Given the description of an element on the screen output the (x, y) to click on. 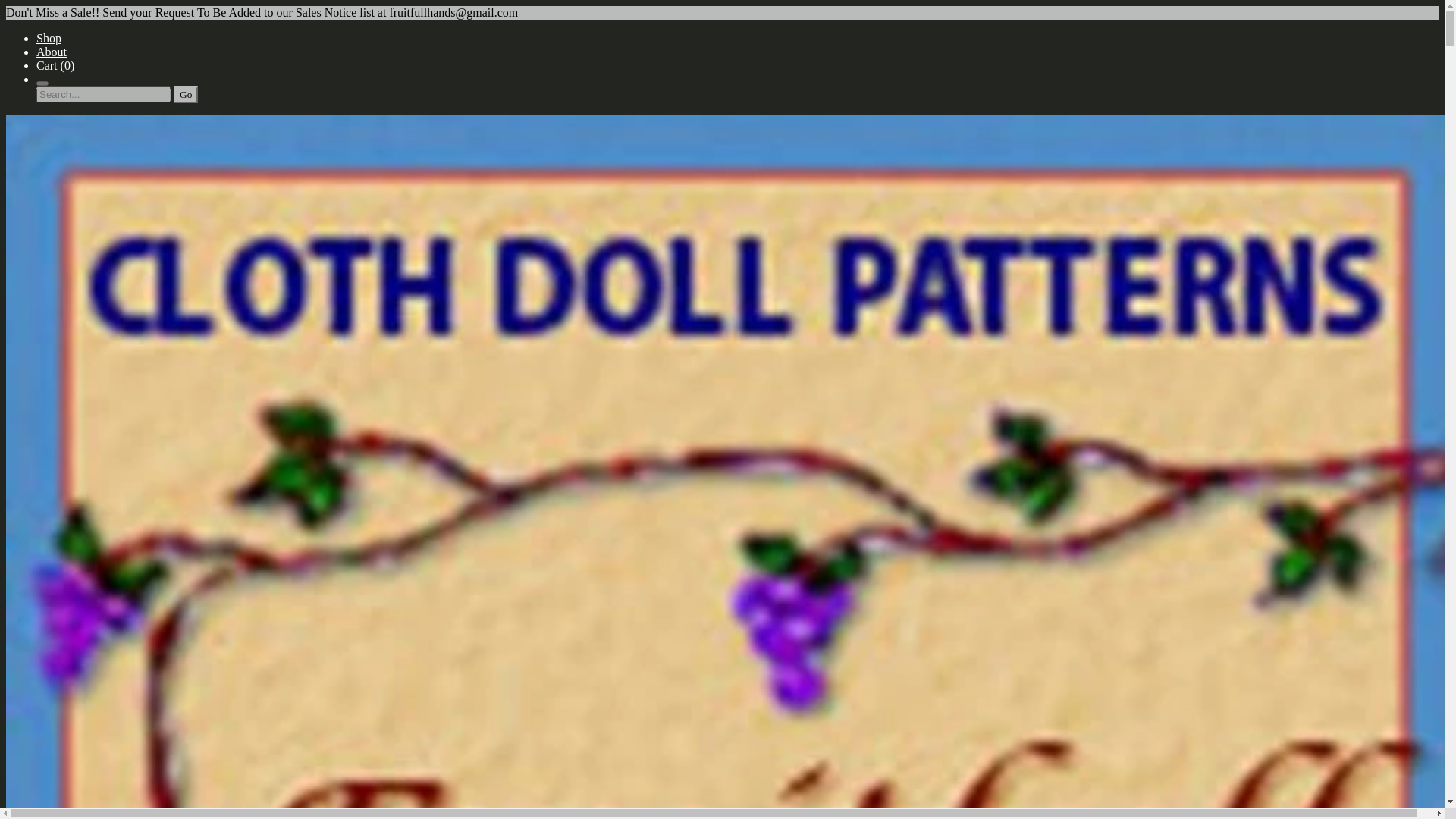
Go (185, 94)
About (51, 51)
Shop (48, 38)
Go (185, 94)
